Given the description of an element on the screen output the (x, y) to click on. 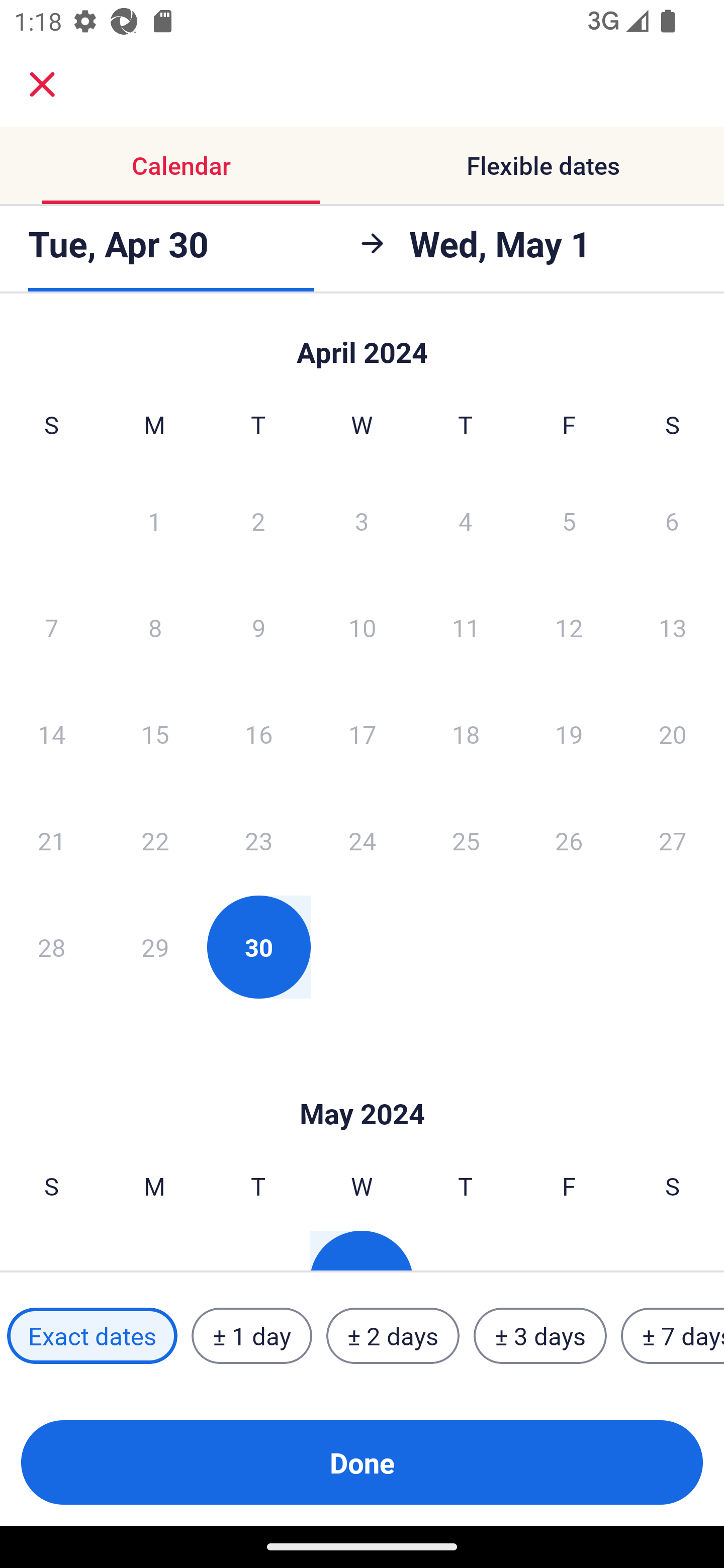
close. (42, 84)
Flexible dates (542, 164)
Skip to Done (362, 343)
1 Monday, April 1, 2024 (154, 520)
2 Tuesday, April 2, 2024 (257, 520)
3 Wednesday, April 3, 2024 (361, 520)
4 Thursday, April 4, 2024 (465, 520)
5 Friday, April 5, 2024 (568, 520)
6 Saturday, April 6, 2024 (672, 520)
7 Sunday, April 7, 2024 (51, 626)
8 Monday, April 8, 2024 (155, 626)
9 Tuesday, April 9, 2024 (258, 626)
10 Wednesday, April 10, 2024 (362, 626)
11 Thursday, April 11, 2024 (465, 626)
12 Friday, April 12, 2024 (569, 626)
13 Saturday, April 13, 2024 (672, 626)
14 Sunday, April 14, 2024 (51, 733)
15 Monday, April 15, 2024 (155, 733)
16 Tuesday, April 16, 2024 (258, 733)
17 Wednesday, April 17, 2024 (362, 733)
18 Thursday, April 18, 2024 (465, 733)
19 Friday, April 19, 2024 (569, 733)
20 Saturday, April 20, 2024 (672, 733)
21 Sunday, April 21, 2024 (51, 840)
22 Monday, April 22, 2024 (155, 840)
23 Tuesday, April 23, 2024 (258, 840)
24 Wednesday, April 24, 2024 (362, 840)
25 Thursday, April 25, 2024 (465, 840)
26 Friday, April 26, 2024 (569, 840)
27 Saturday, April 27, 2024 (672, 840)
28 Sunday, April 28, 2024 (51, 946)
29 Monday, April 29, 2024 (155, 946)
Skip to Done (362, 1083)
Exact dates (92, 1335)
± 1 day (251, 1335)
± 2 days (392, 1335)
± 3 days (539, 1335)
± 7 days (672, 1335)
Done (361, 1462)
